Given the description of an element on the screen output the (x, y) to click on. 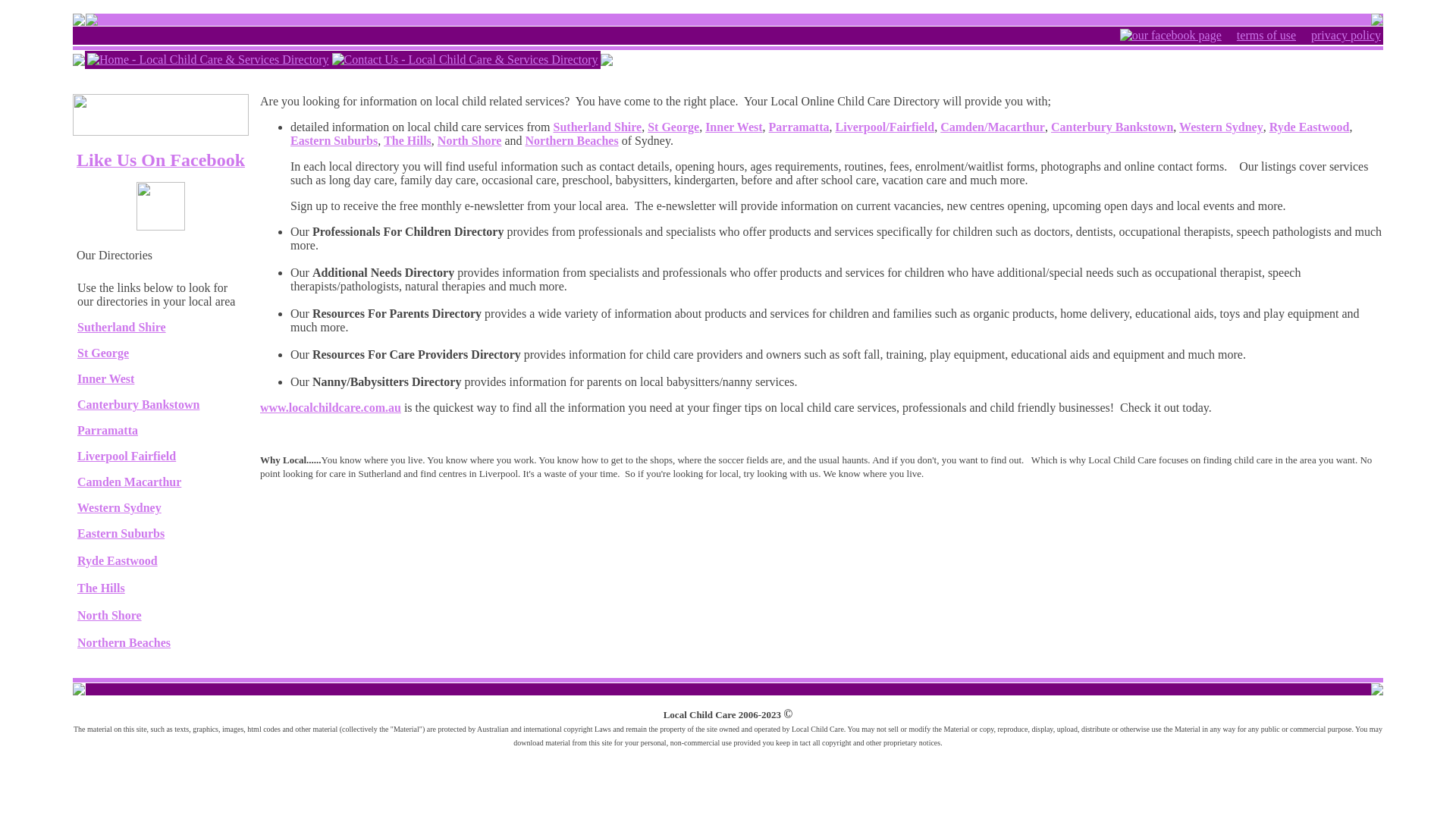
Canterbury Bankstown Element type: text (1112, 126)
Canterbury Bankstown Element type: text (138, 404)
North Shore Element type: text (469, 140)
Liverpool Fairfield Element type: text (126, 455)
privacy policy Element type: text (1345, 35)
www.localchildcare.com.au Element type: text (330, 407)
Ryde Eastwood Element type: text (1309, 126)
Eastern Suburbs Element type: text (120, 533)
Inner West Element type: text (105, 378)
Ryde Eastwood Element type: text (117, 560)
Inner West Element type: text (733, 126)
Western Sydney Element type: text (1221, 126)
Camden/Macarthur Element type: text (992, 126)
The Hills Element type: text (407, 140)
Sutherland Shire Element type: text (597, 126)
terms of use Element type: text (1265, 35)
Camden Macarthur Element type: text (129, 481)
Western Sydney Element type: text (119, 507)
Like Us On Facebook Element type: text (160, 161)
Parramatta Element type: text (798, 126)
Eastern Suburbs Element type: text (333, 140)
Northern Beaches Element type: text (571, 140)
St George Element type: text (673, 126)
North Shore Element type: text (109, 614)
Liverpool/Fairfield Element type: text (885, 126)
The Hills Element type: text (101, 587)
Northern Beaches Element type: text (123, 642)
Parramatta Element type: text (107, 429)
Sutherland Shire Element type: text (121, 326)
St George Element type: text (102, 352)
